Given the description of an element on the screen output the (x, y) to click on. 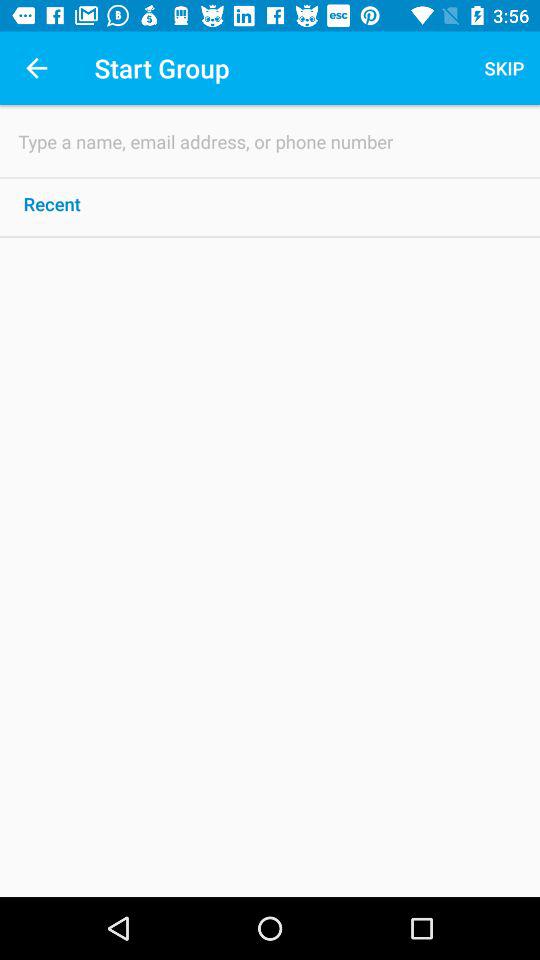
launch the icon at the top right corner (504, 67)
